Given the description of an element on the screen output the (x, y) to click on. 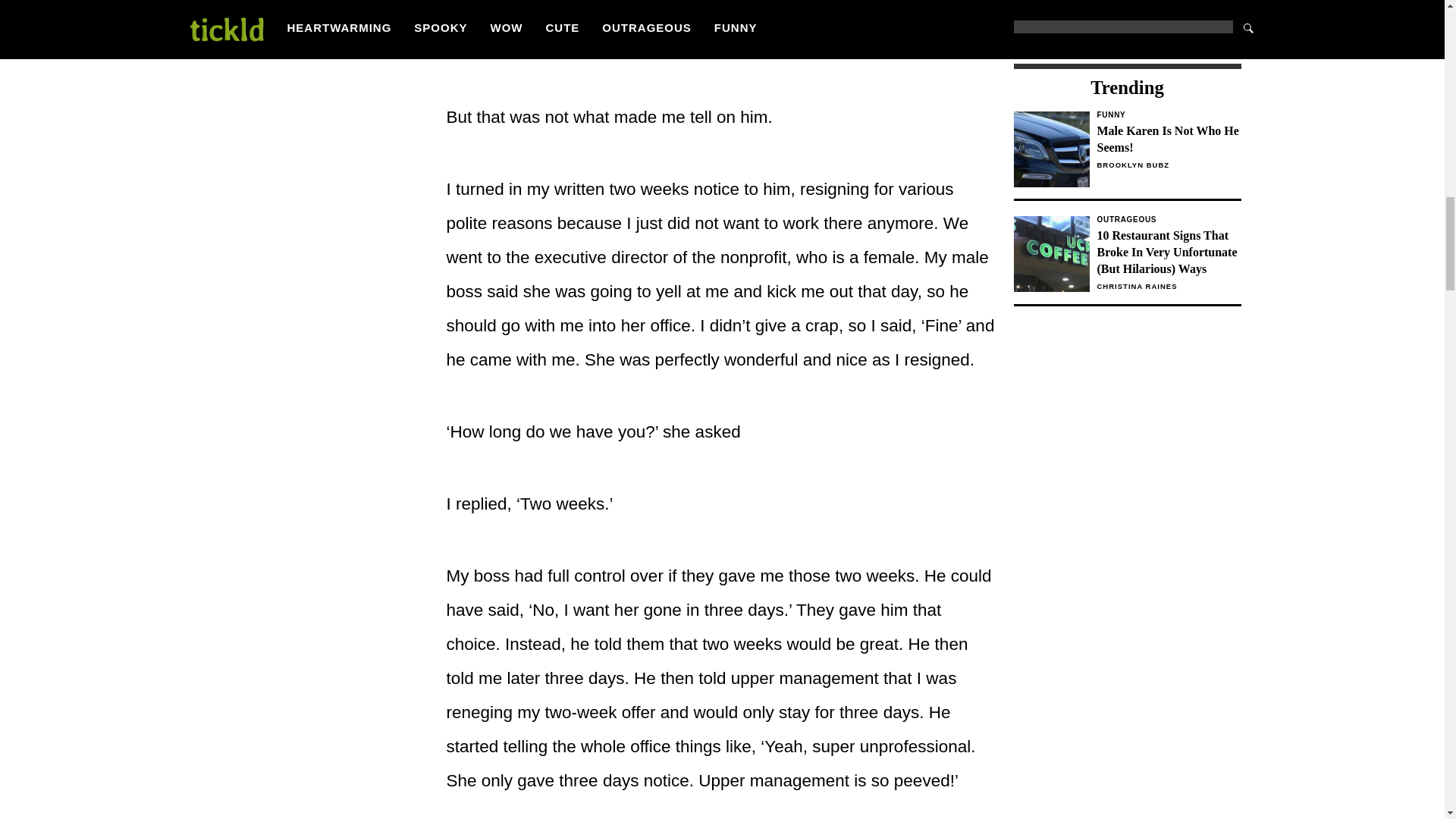
Funny (1168, 114)
Outrageous (1168, 219)
Male Karen Is Not Who He Seems! (1168, 139)
